Given the description of an element on the screen output the (x, y) to click on. 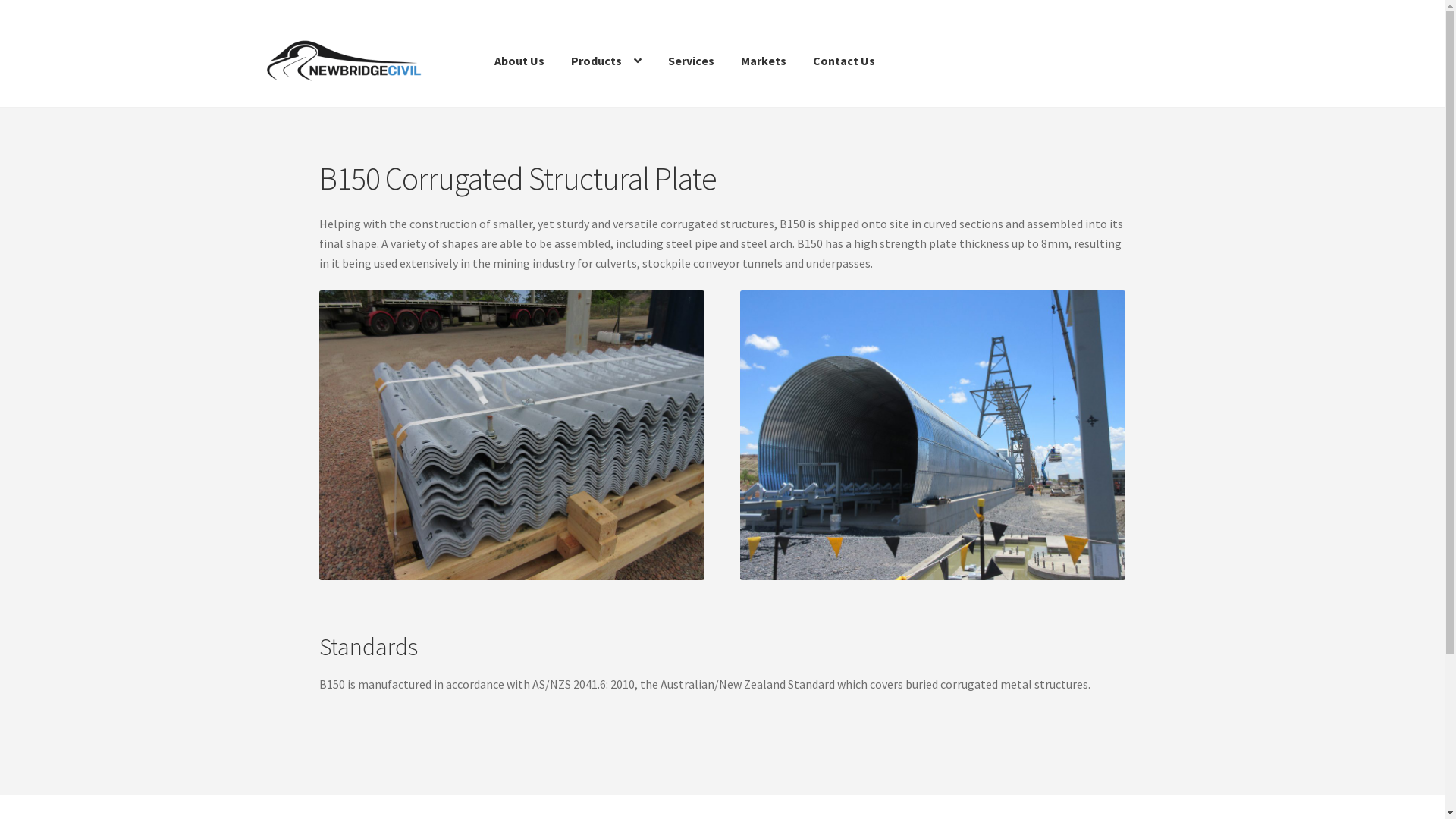
Services Element type: text (690, 61)
Contact Us Element type: text (843, 61)
Markets Element type: text (763, 61)
Skip to navigation Element type: text (256, 31)
About Us Element type: text (519, 61)
Products Element type: text (605, 61)
